Given the description of an element on the screen output the (x, y) to click on. 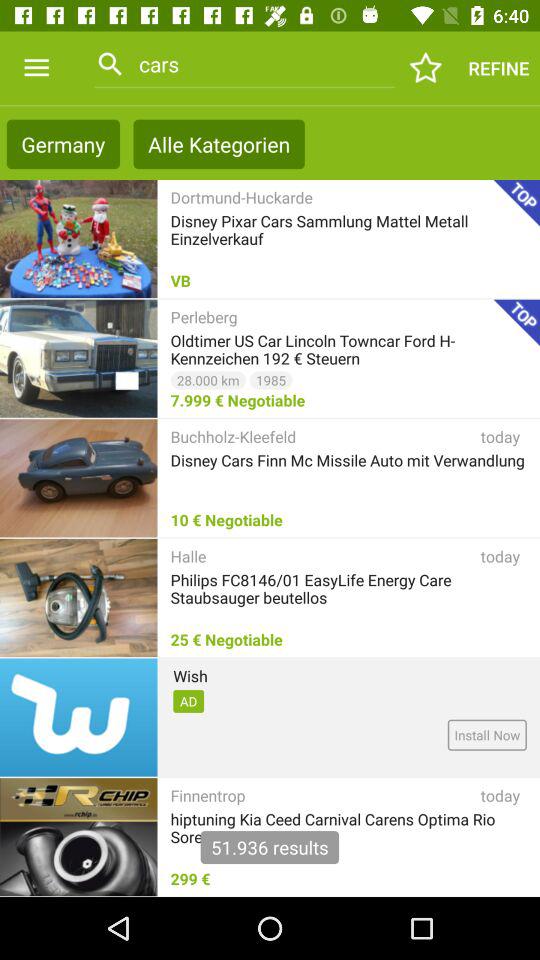
press install now item (486, 734)
